Given the description of an element on the screen output the (x, y) to click on. 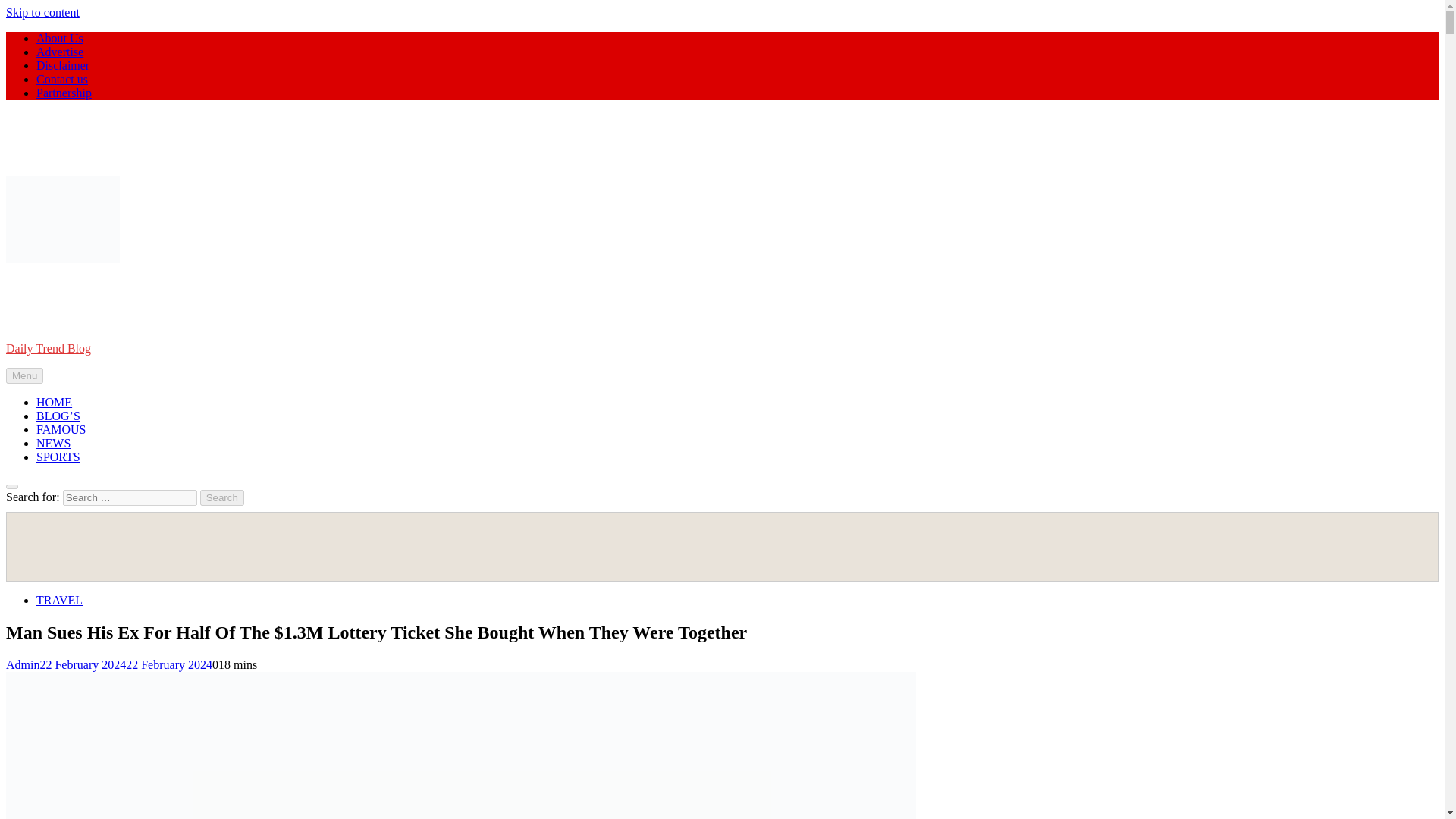
SPORTS (58, 456)
FAMOUS (60, 429)
TRAVEL (59, 599)
22 February 202422 February 2024 (125, 664)
Contact us (61, 78)
Disclaimer (62, 65)
HOME (53, 401)
NEWS (52, 442)
Search (222, 497)
Daily Trend Blog (47, 348)
Advertise (59, 51)
Search (222, 497)
Admin (22, 664)
Menu (24, 375)
